Given the description of an element on the screen output the (x, y) to click on. 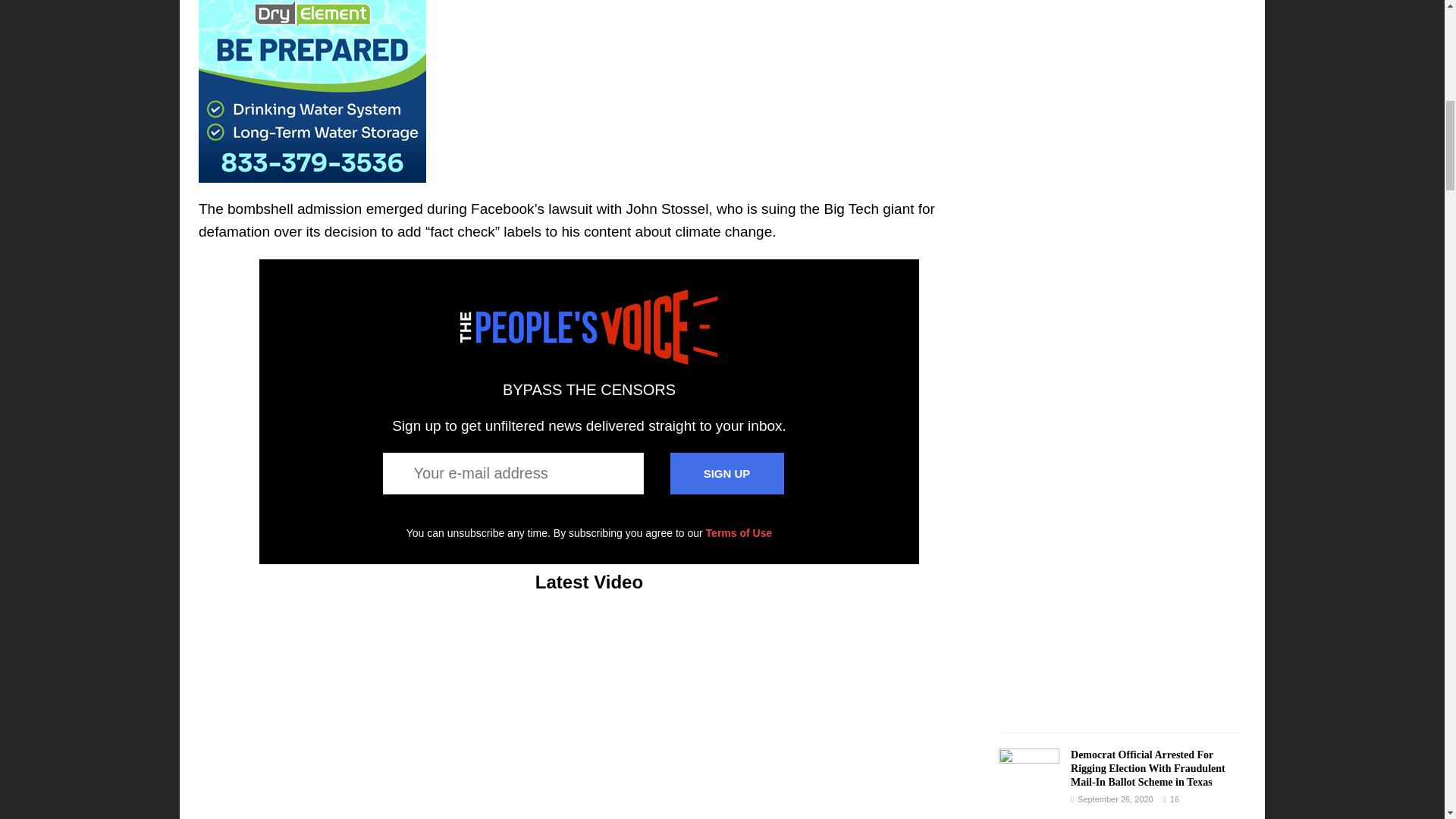
SIGN UP (726, 473)
